Given the description of an element on the screen output the (x, y) to click on. 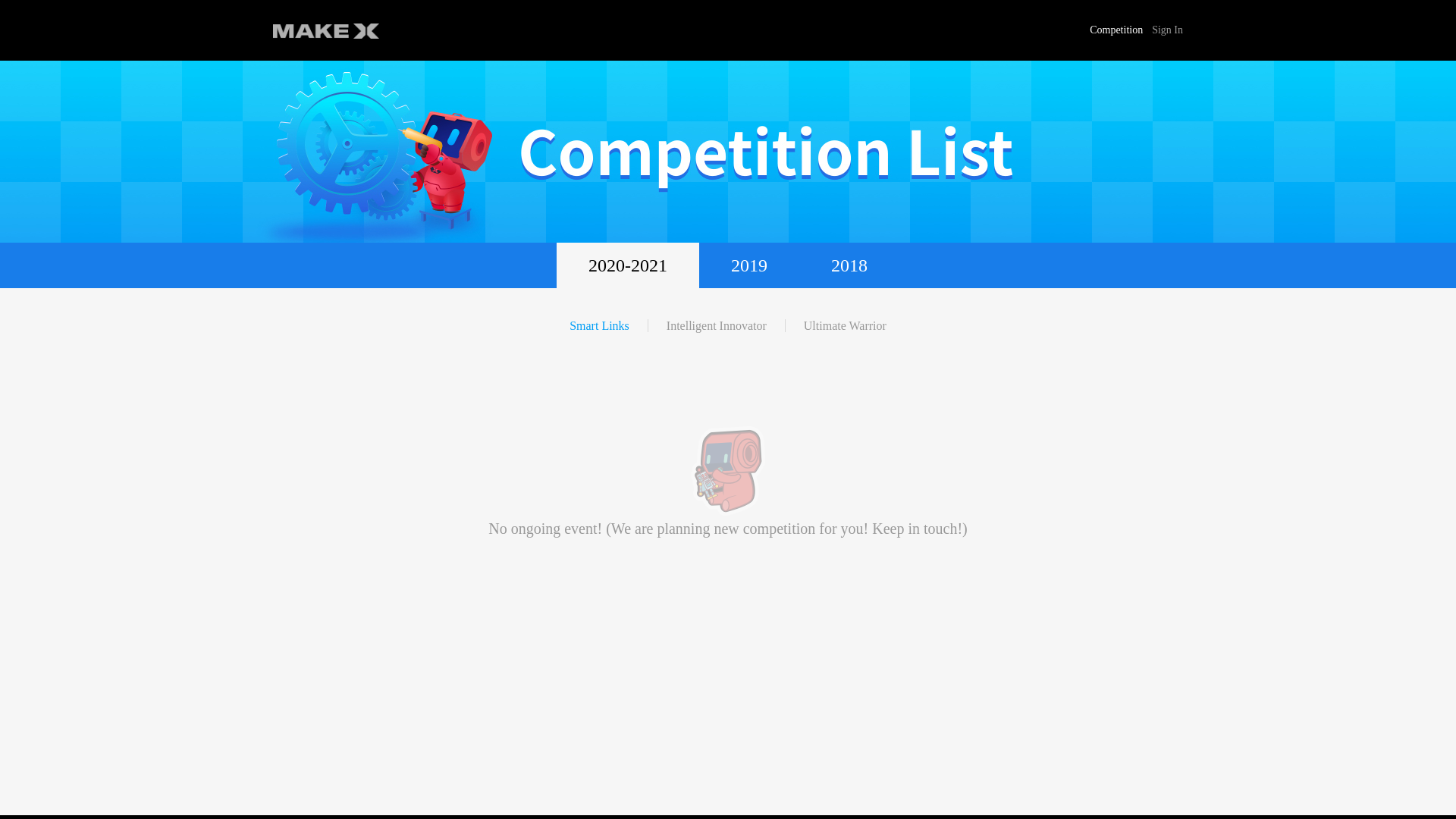
Sign In Element type: text (1167, 30)
Competition Element type: text (1115, 29)
